Given the description of an element on the screen output the (x, y) to click on. 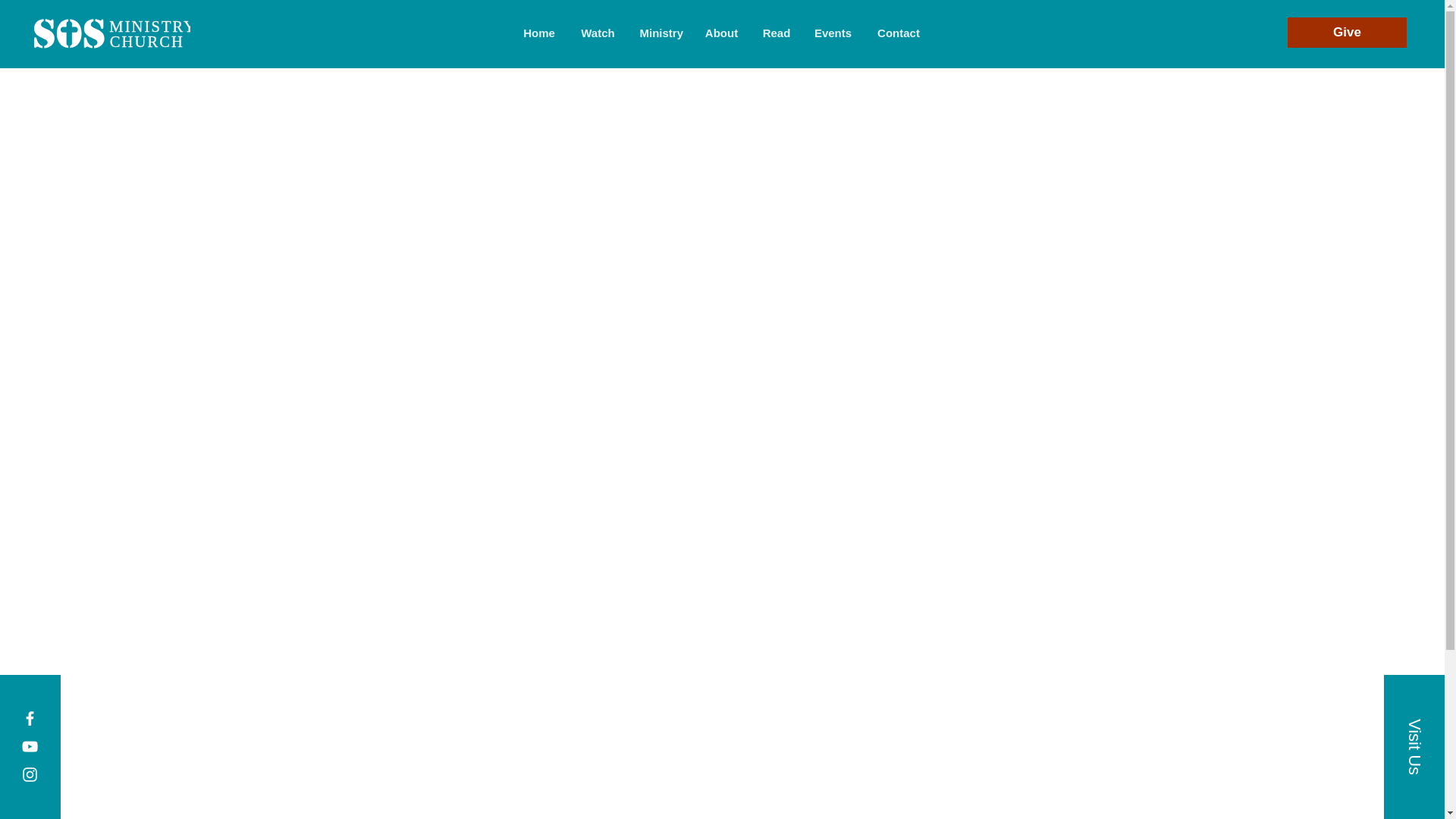
Ministry (660, 33)
Read (777, 33)
Give (1346, 32)
Watch (597, 33)
Home (539, 33)
Events (832, 33)
About (111, 37)
Contact (722, 33)
